Given the description of an element on the screen output the (x, y) to click on. 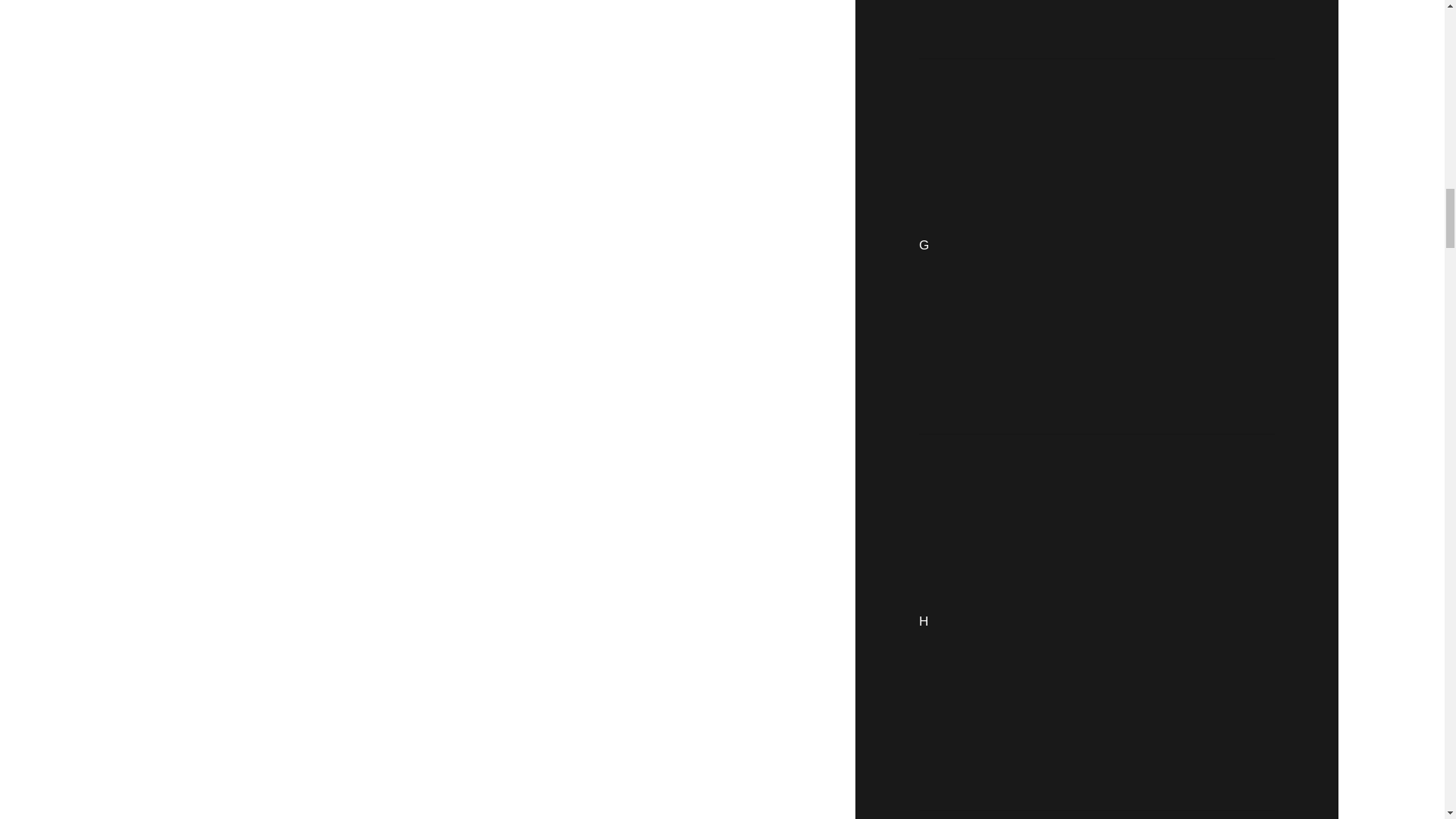
Open child menu of F (1101, 21)
Open child menu of H (1102, 621)
Open child menu of G (1102, 246)
